Given the description of an element on the screen output the (x, y) to click on. 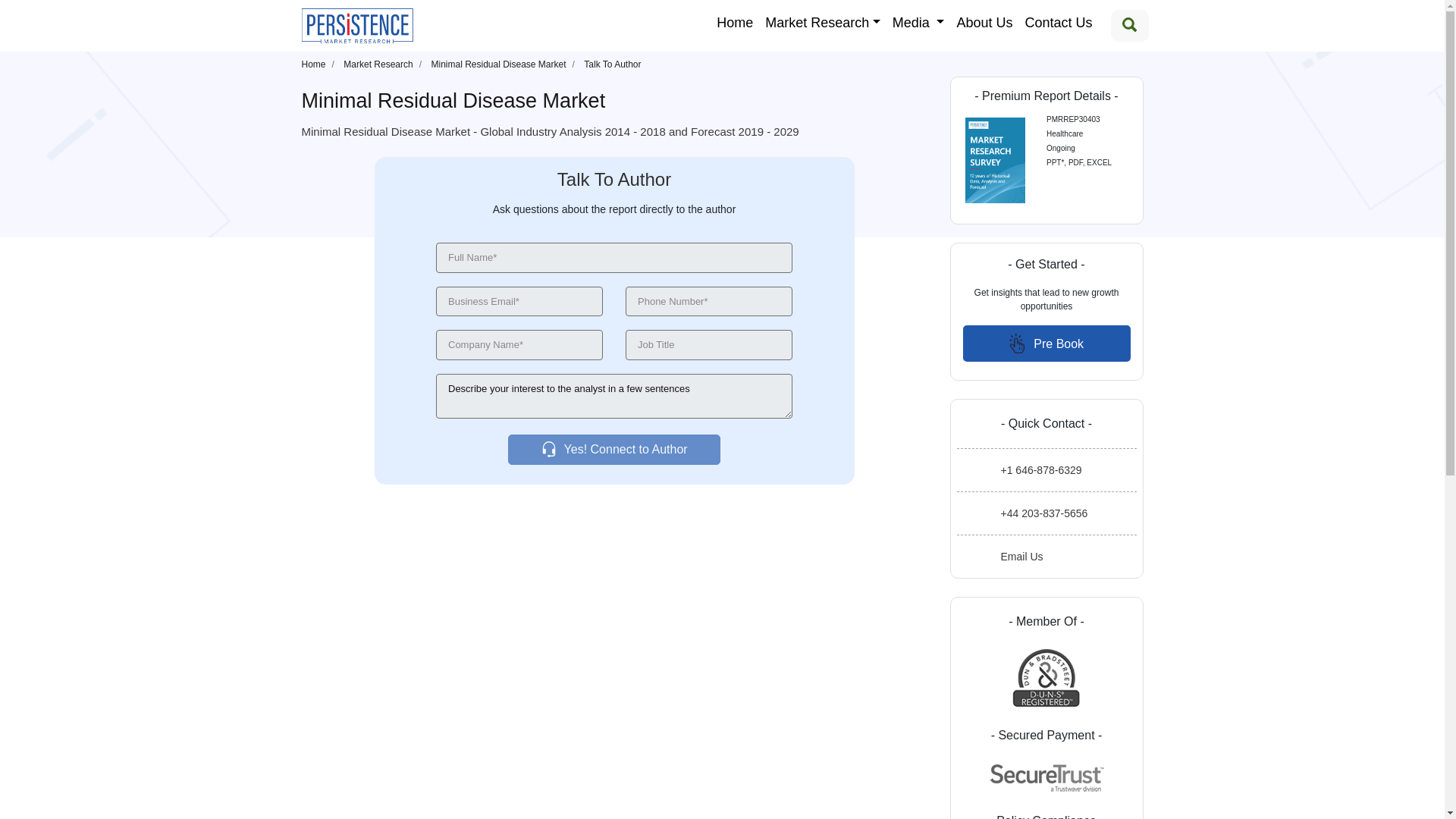
Email Us (1050, 556)
Search (1128, 25)
Market Research (377, 62)
About Us (983, 21)
Persistence Market Report (313, 62)
Contact Us (1057, 21)
Contact Us (1057, 21)
Minimal Residual Disease Market (498, 62)
Pre Book (1046, 343)
Yes! Connect to Author (613, 449)
